Given the description of an element on the screen output the (x, y) to click on. 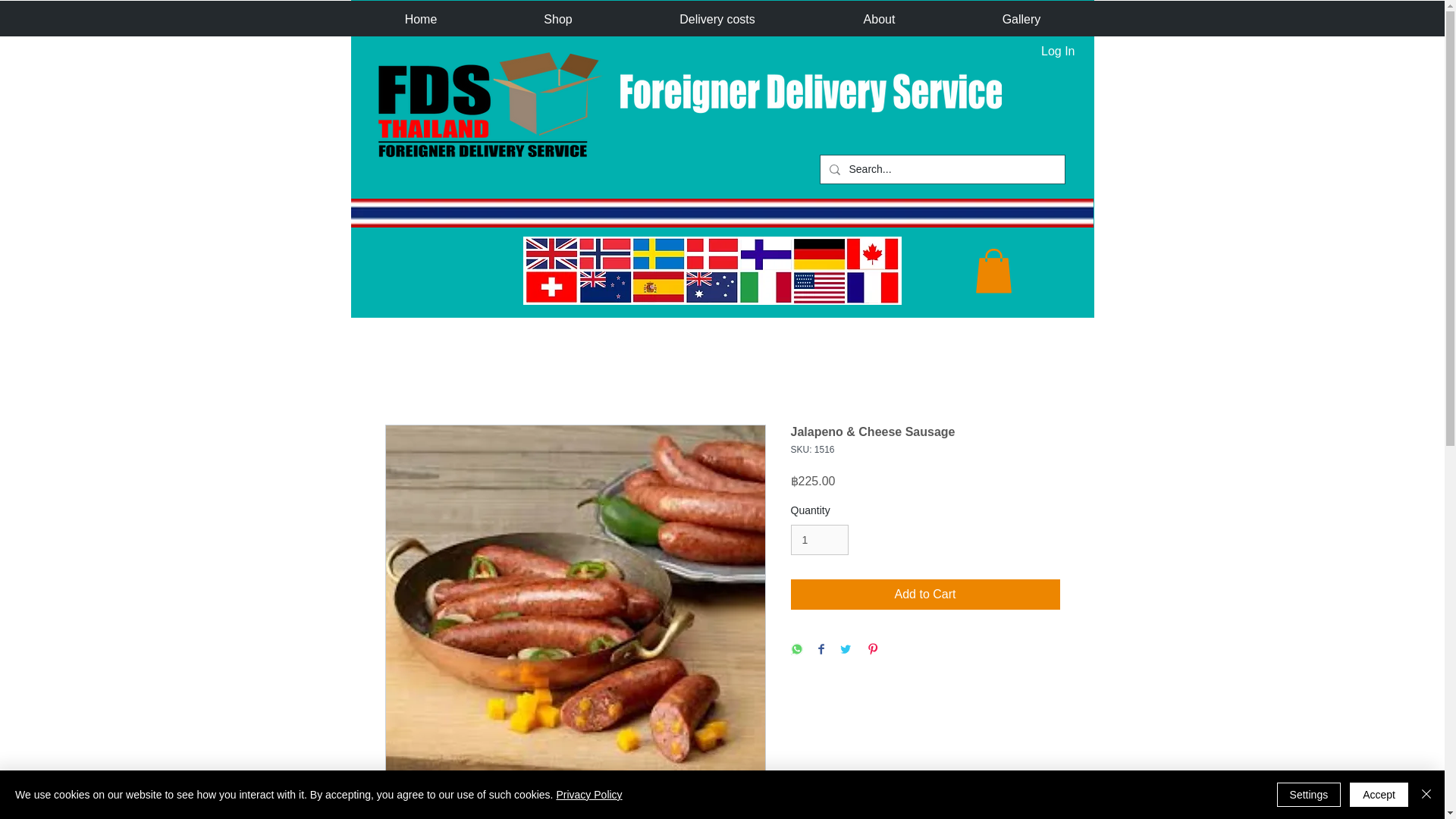
Settings (1308, 794)
Log In (1057, 51)
Privacy Policy (588, 794)
Delivery costs (716, 18)
About (879, 18)
Gallery (1021, 18)
Home (420, 18)
Add to Cart (924, 594)
Accept (1378, 794)
1 (818, 540)
